Given the description of an element on the screen output the (x, y) to click on. 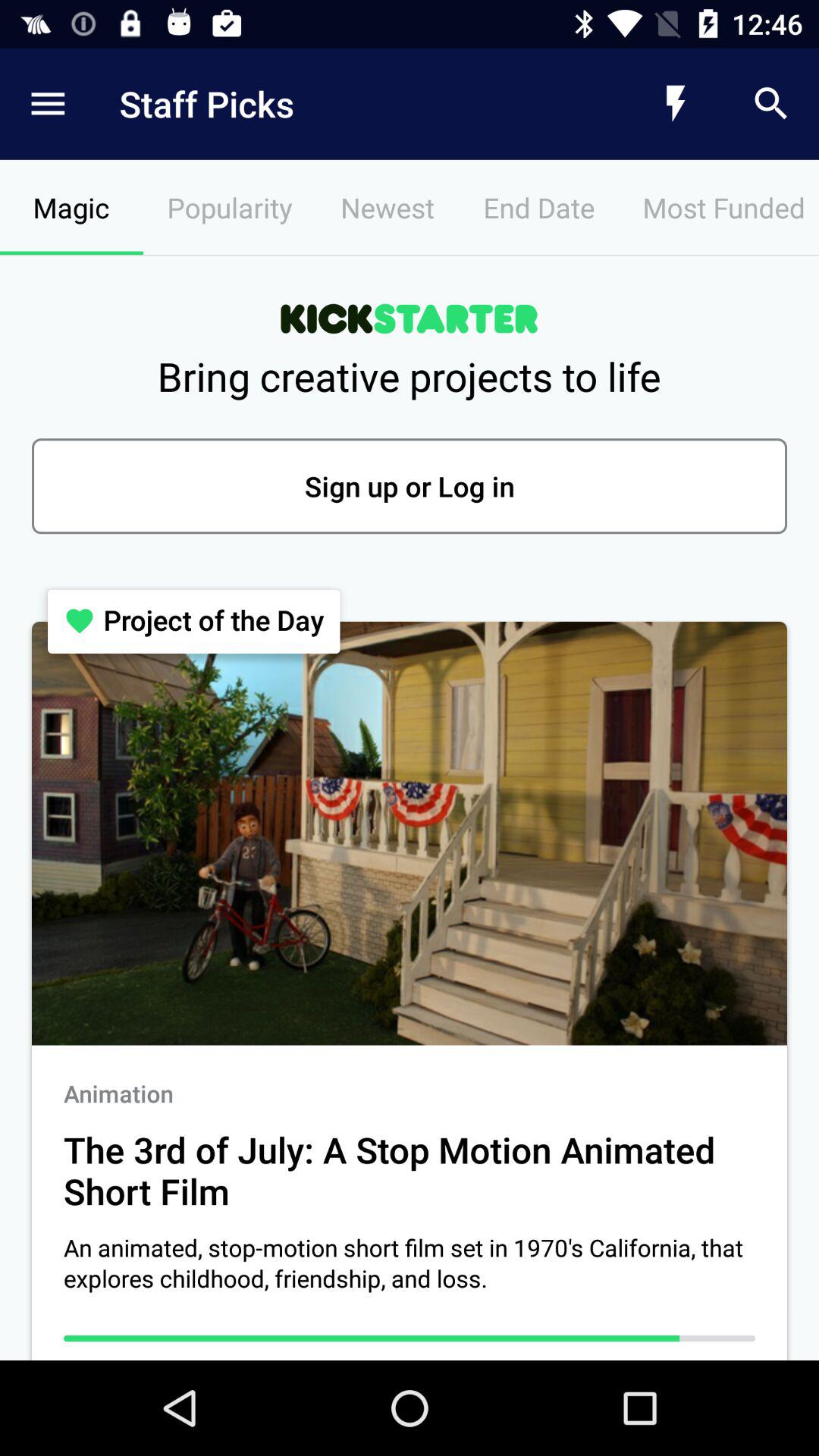
turn on the item below bring creative projects item (409, 486)
